Given the description of an element on the screen output the (x, y) to click on. 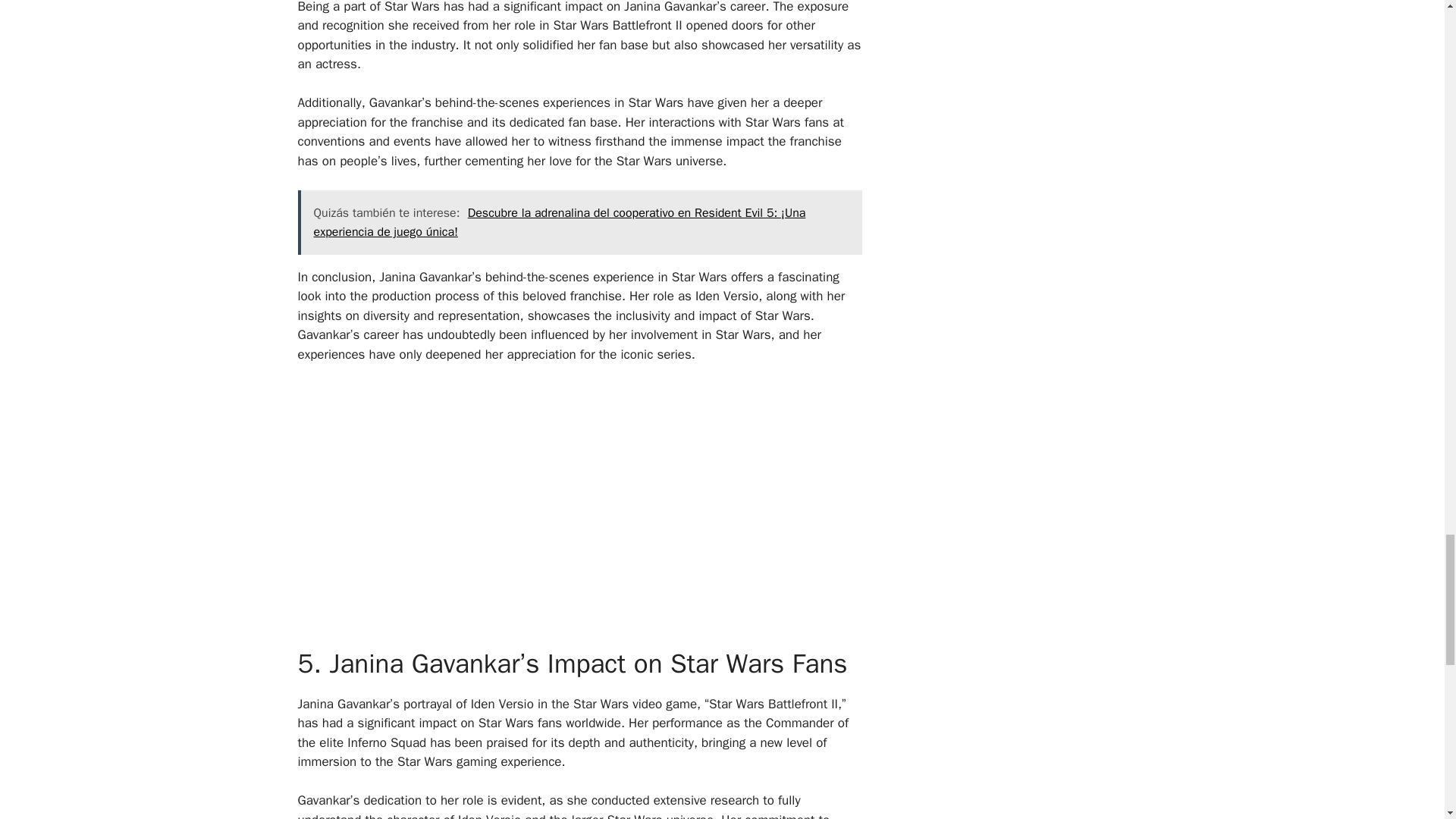
YouTube video player (509, 503)
